Given the description of an element on the screen output the (x, y) to click on. 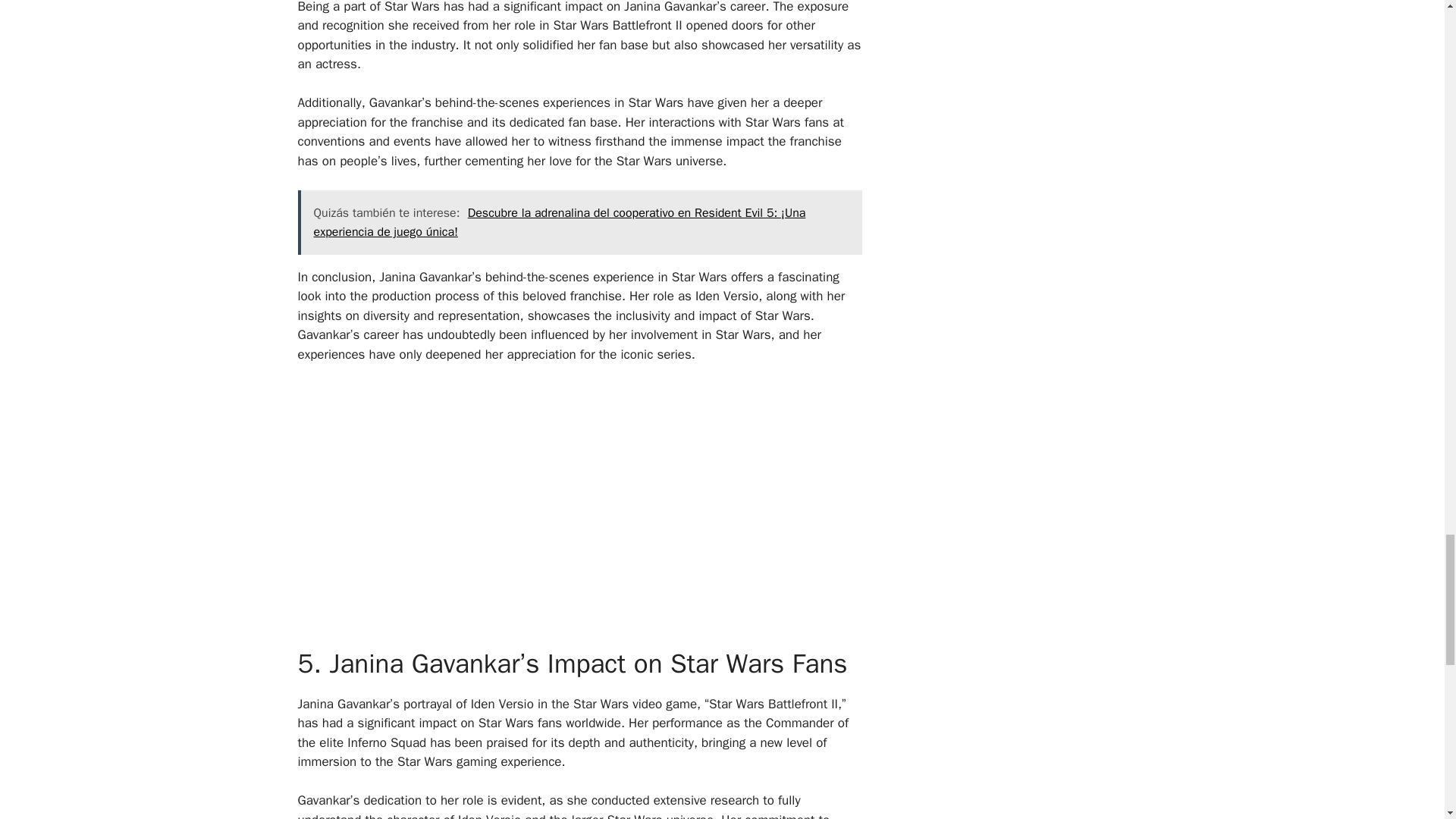
YouTube video player (509, 503)
